Given the description of an element on the screen output the (x, y) to click on. 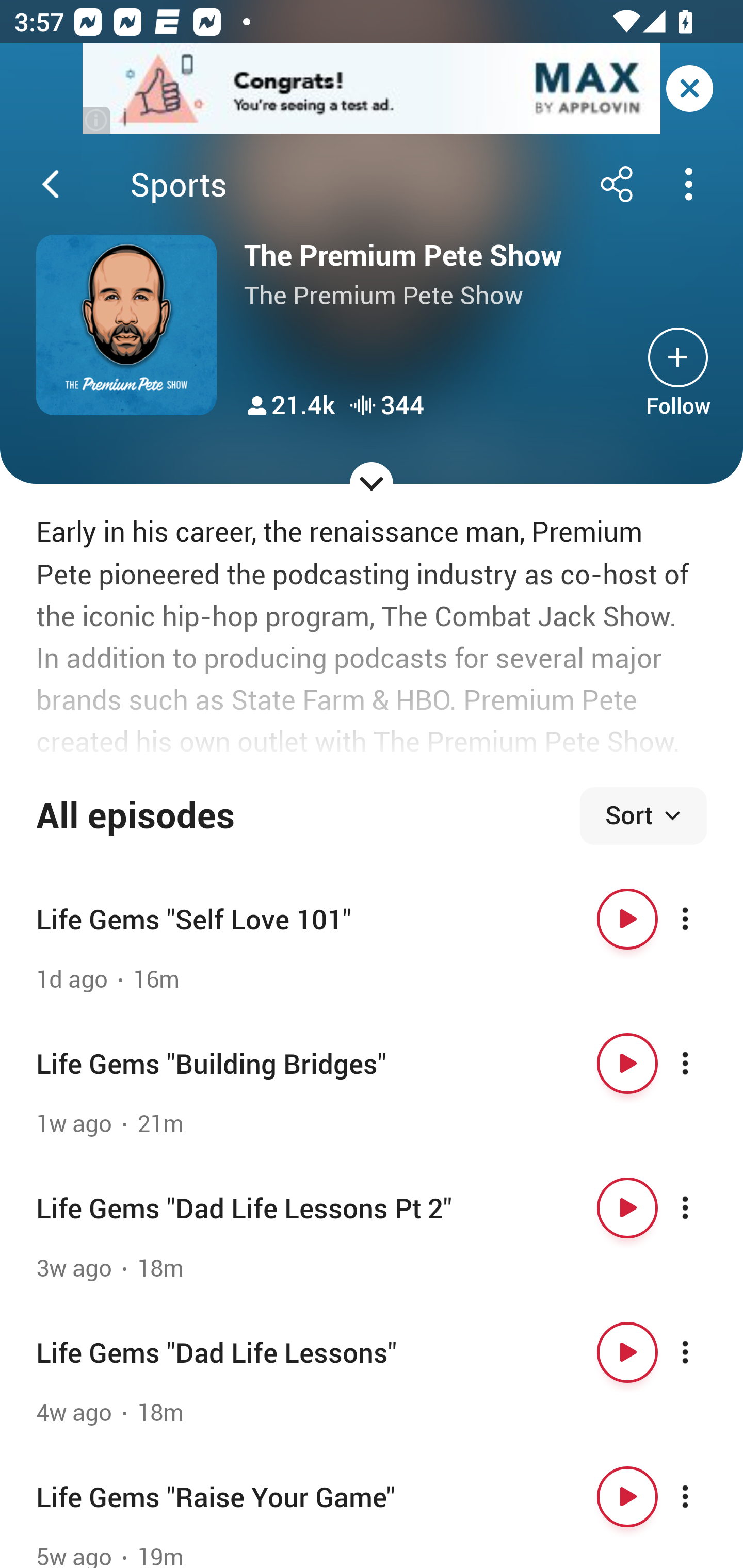
app-monetization (371, 88)
(i) (96, 119)
Back (50, 184)
Subscribe button (677, 357)
Sort episodes Sort (643, 816)
Play button (627, 919)
More options (703, 919)
Play button (627, 1063)
More options (703, 1063)
Play button (627, 1208)
More options (703, 1208)
Play button (627, 1352)
More options (703, 1352)
Play button (627, 1496)
More options (703, 1496)
